Given the description of an element on the screen output the (x, y) to click on. 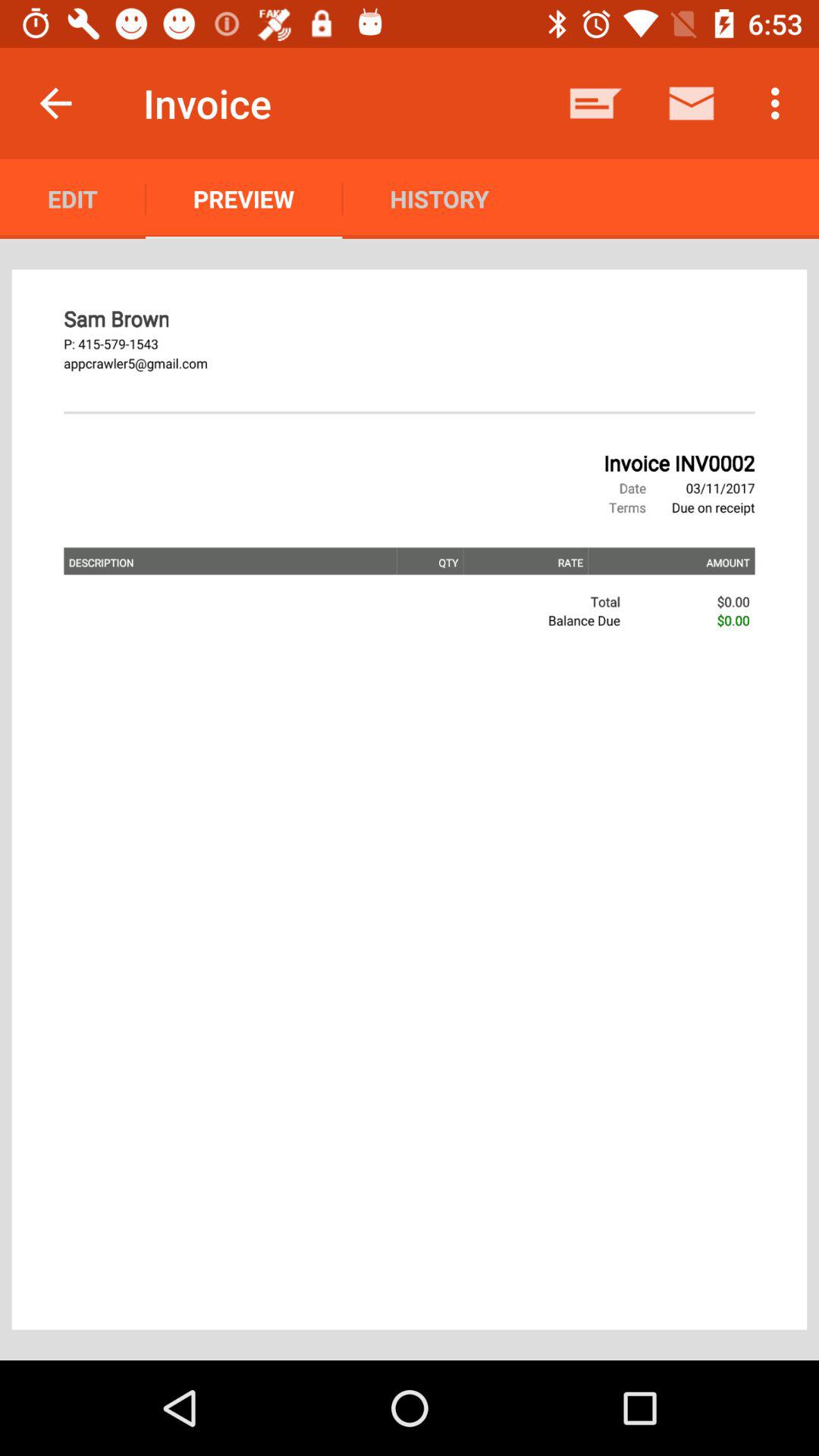
launch the history icon (439, 198)
